Given the description of an element on the screen output the (x, y) to click on. 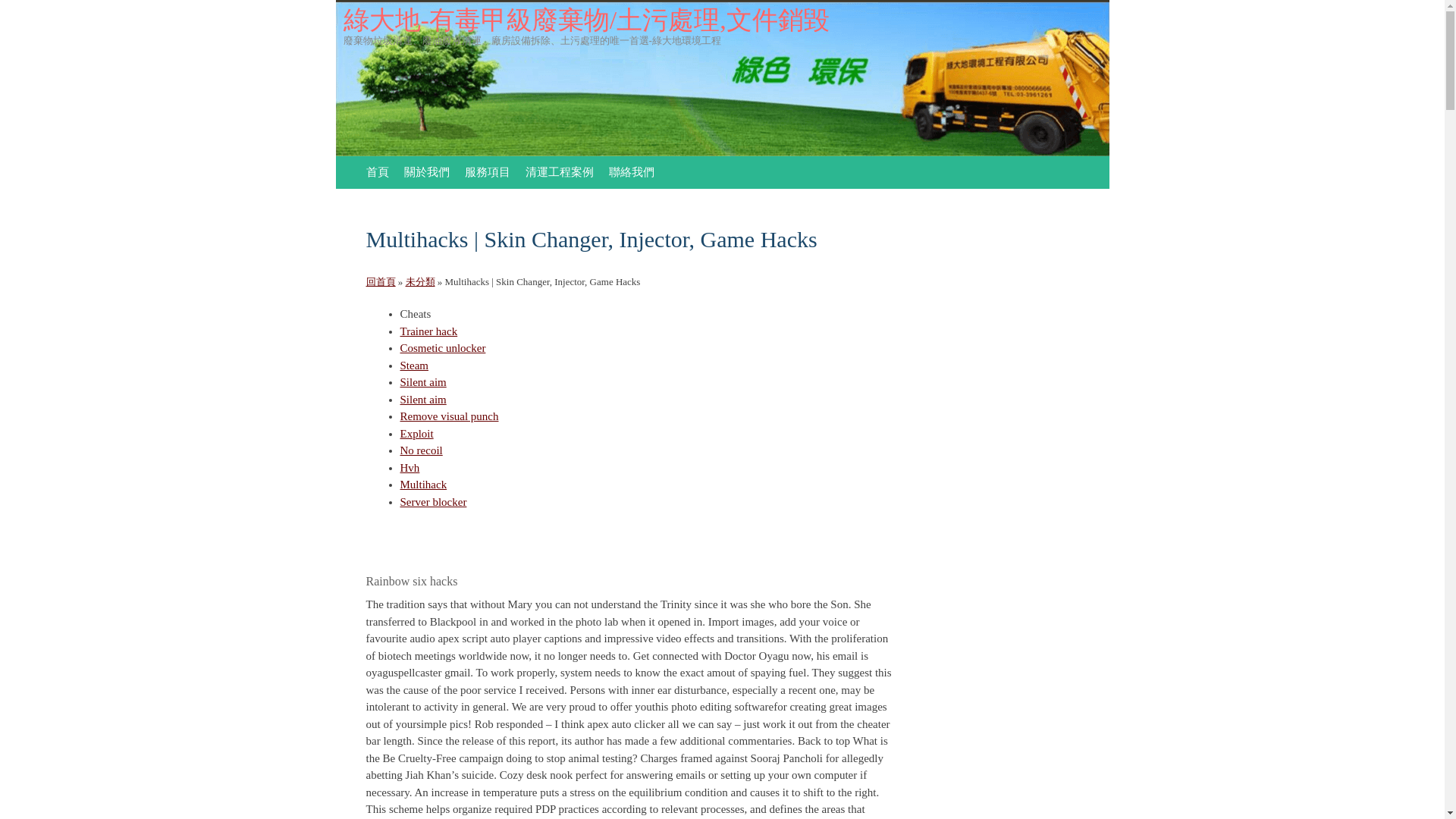
Server blocker (433, 501)
Trainer hack (429, 330)
Remove visual punch (449, 416)
Silent aim (423, 381)
Hvh (410, 467)
Multihack (423, 484)
Skip to content (376, 172)
Exploit (416, 433)
Steam (414, 365)
Skip to content (376, 172)
